Given the description of an element on the screen output the (x, y) to click on. 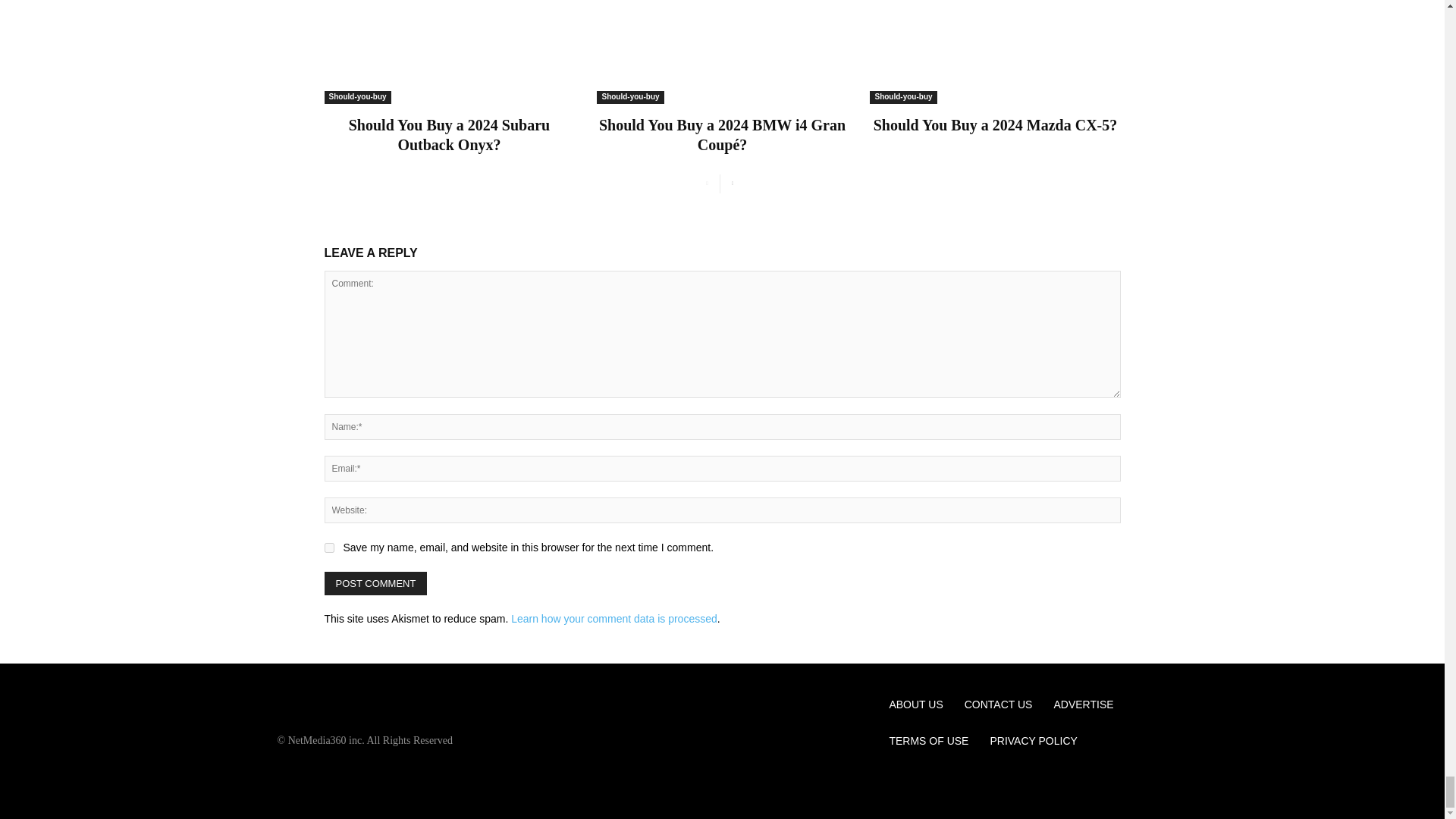
yes (329, 547)
Post Comment (376, 583)
